Given the description of an element on the screen output the (x, y) to click on. 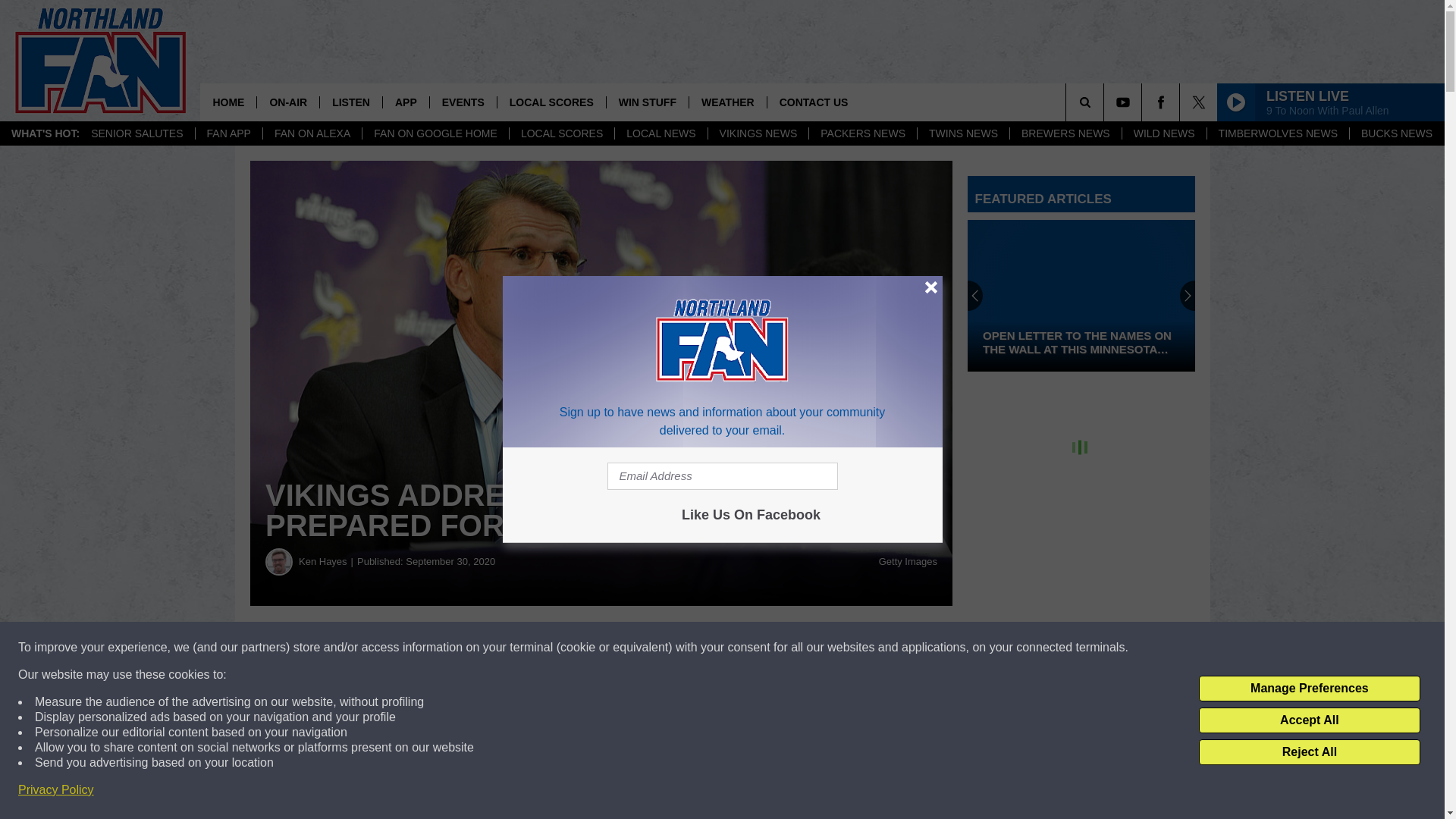
Share on Facebook (460, 647)
TIMBERWOLVES NEWS (1278, 133)
LOCAL SCORES (561, 133)
APP (405, 102)
FAN APP (228, 133)
ON-AIR (287, 102)
Privacy Policy (55, 789)
TWINS NEWS (963, 133)
SENIOR SALUTES (136, 133)
Manage Preferences (1309, 688)
WILD NEWS (1164, 133)
SEARCH (1106, 102)
PACKERS NEWS (862, 133)
Reject All (1309, 751)
FAN ON ALEXA (311, 133)
